Given the description of an element on the screen output the (x, y) to click on. 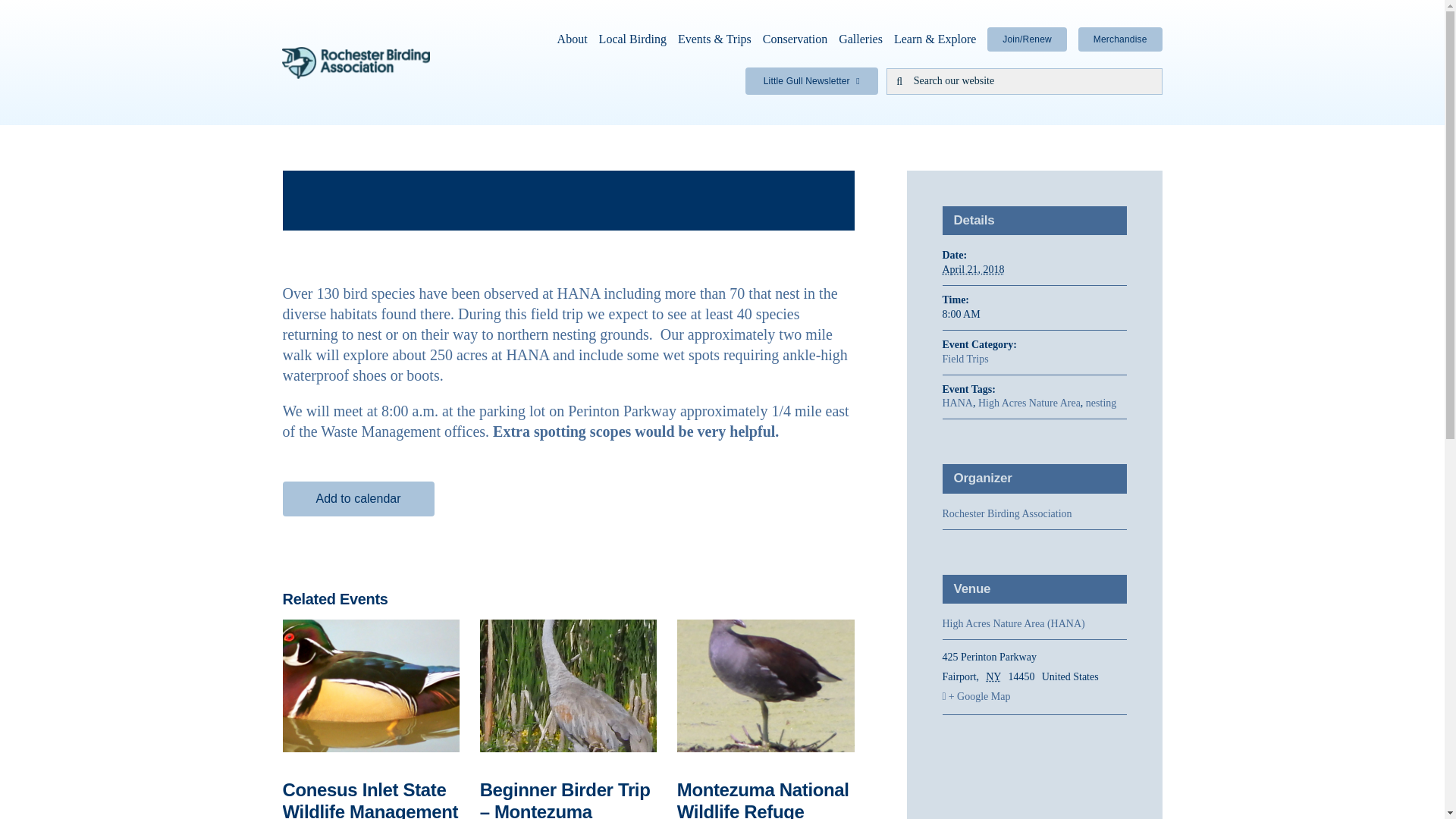
New York (995, 676)
Rochester Birding Association (1006, 513)
Click to view a Google Map (1034, 696)
2018-04-21 (1034, 314)
About (572, 39)
Local Birding (632, 39)
2018-04-21 (973, 269)
